Given the description of an element on the screen output the (x, y) to click on. 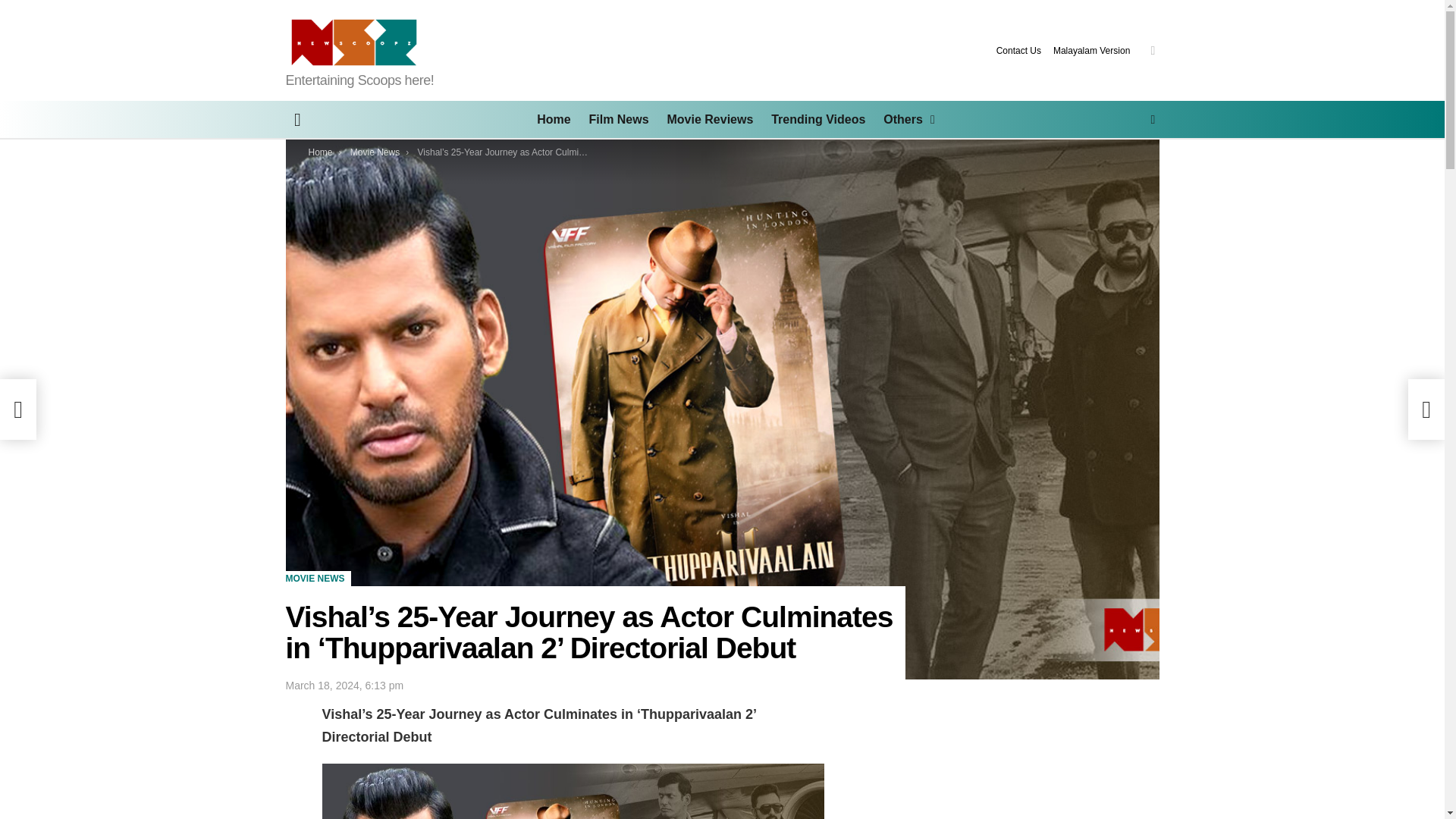
Others (905, 119)
Film News (618, 119)
Home (553, 119)
MOVIE NEWS (317, 578)
Home (319, 152)
Trending Videos (817, 119)
Malayalam Version (1090, 50)
Contact Us (1018, 50)
Movie Reviews (710, 119)
Menu (296, 119)
Movie News (374, 152)
